Given the description of an element on the screen output the (x, y) to click on. 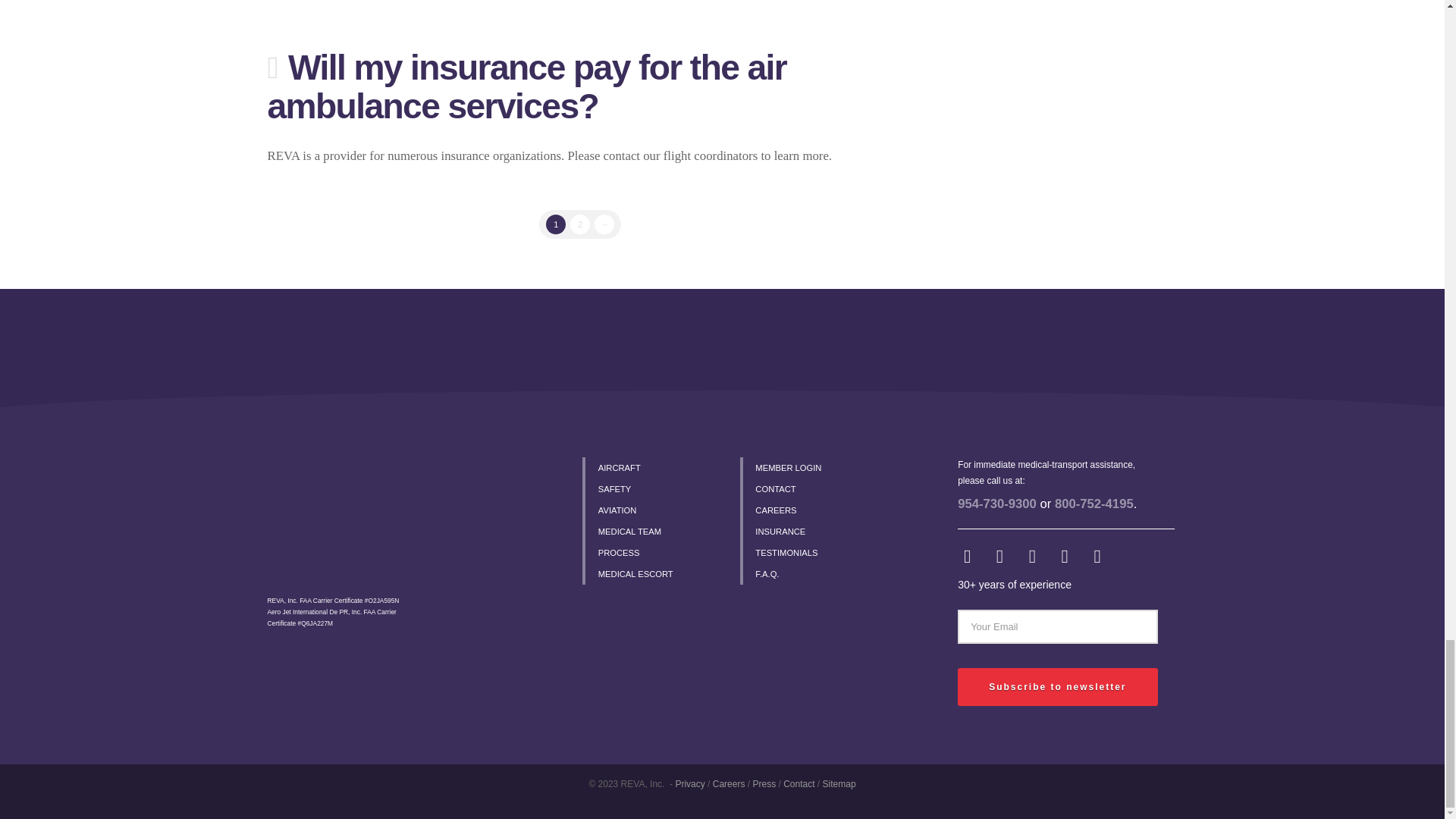
2 (579, 224)
Subscribe to newsletter (1057, 686)
